Given the description of an element on the screen output the (x, y) to click on. 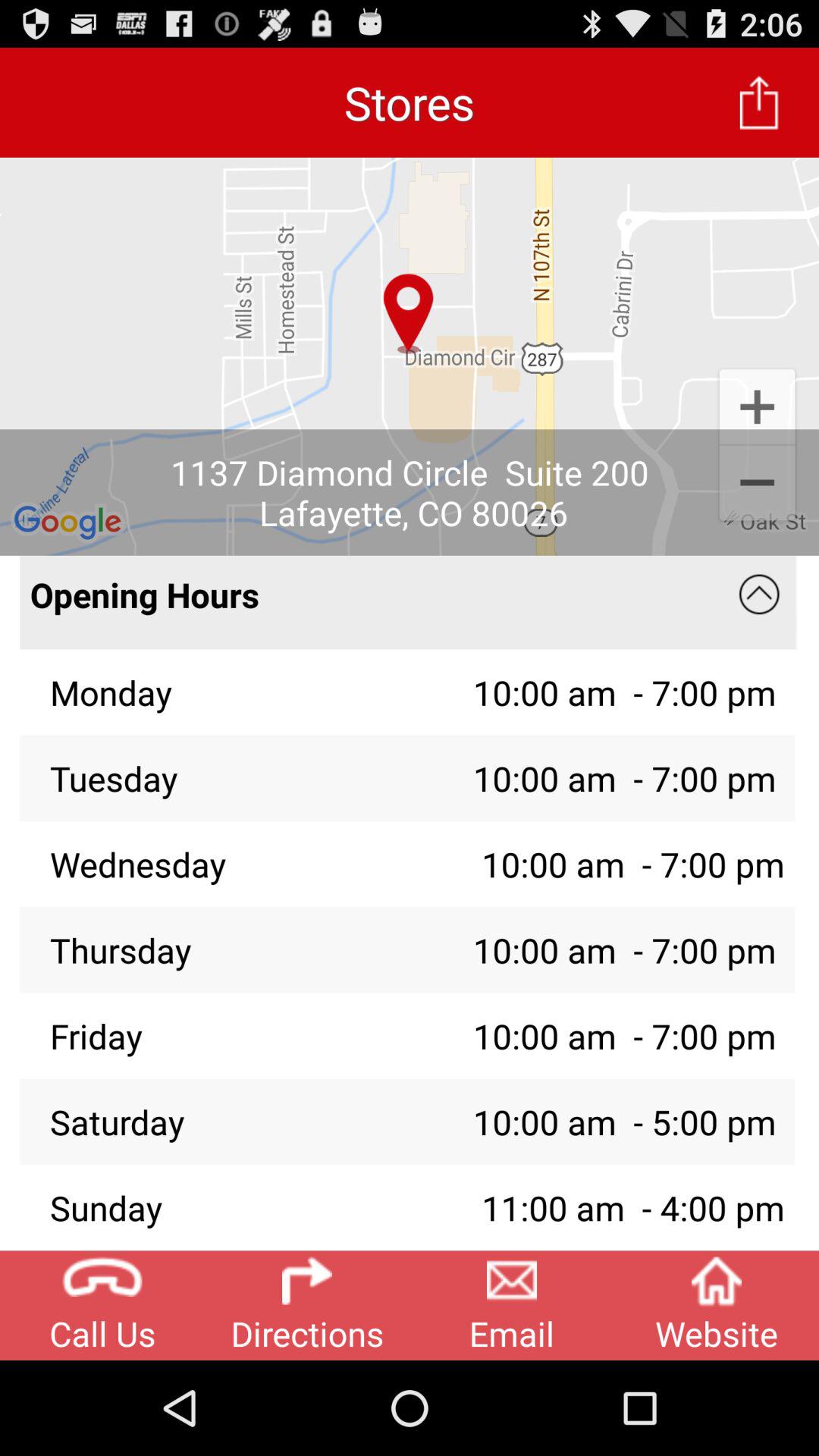
launch the item below sunday  icon (306, 1305)
